Given the description of an element on the screen output the (x, y) to click on. 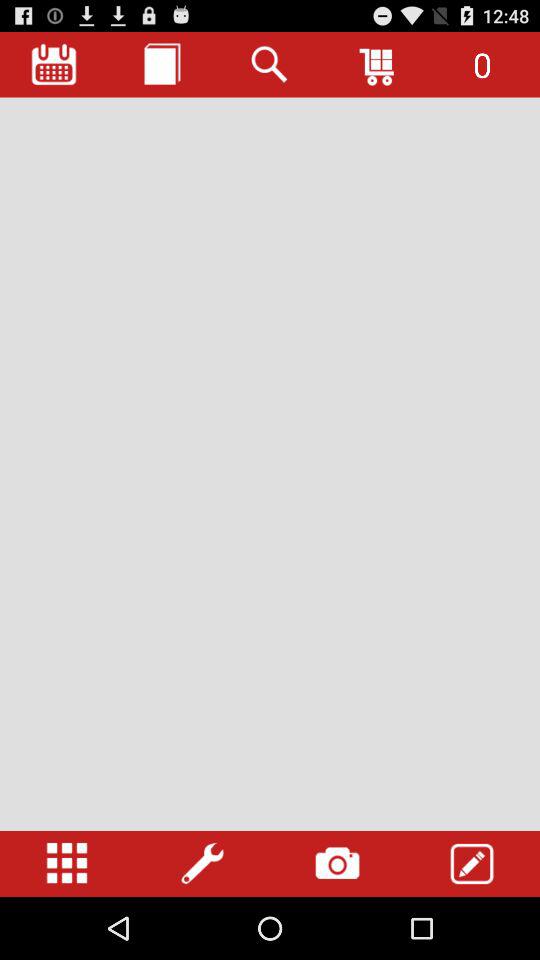
view shopping cart (377, 64)
